Given the description of an element on the screen output the (x, y) to click on. 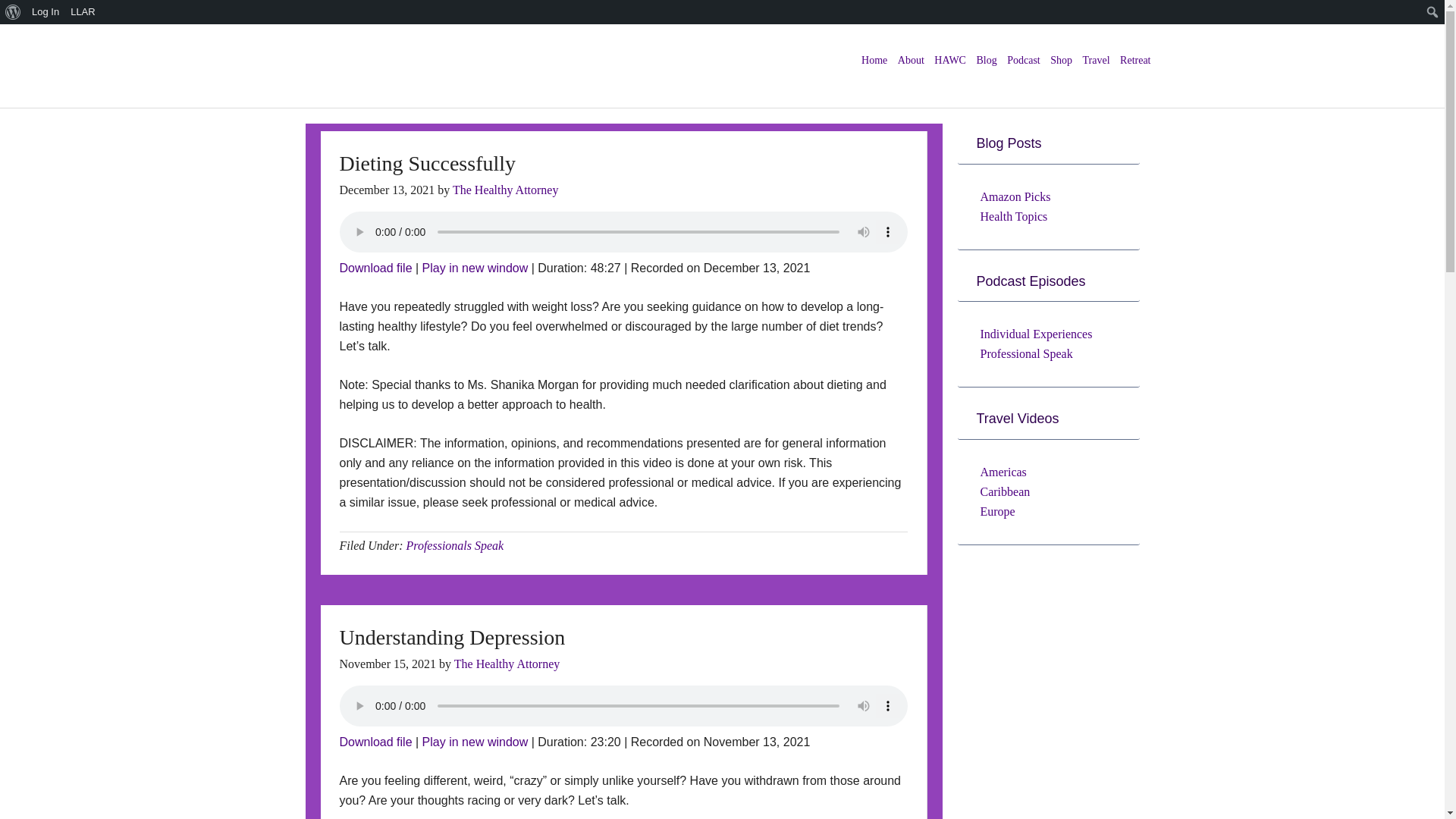
The Healthy Attorney (507, 663)
Dieting Successfully (427, 163)
Dieting Successfully  (475, 267)
Play in new window (475, 267)
Dieting Successfully  (375, 267)
Travel (1095, 60)
HAWC (949, 60)
Download file (375, 741)
Home (874, 60)
Understanding Depression (452, 637)
Search (16, 13)
Professionals Speak (454, 545)
Podcast (1023, 60)
Understanding Depression  (475, 741)
Understanding Depression  (375, 741)
